Given the description of an element on the screen output the (x, y) to click on. 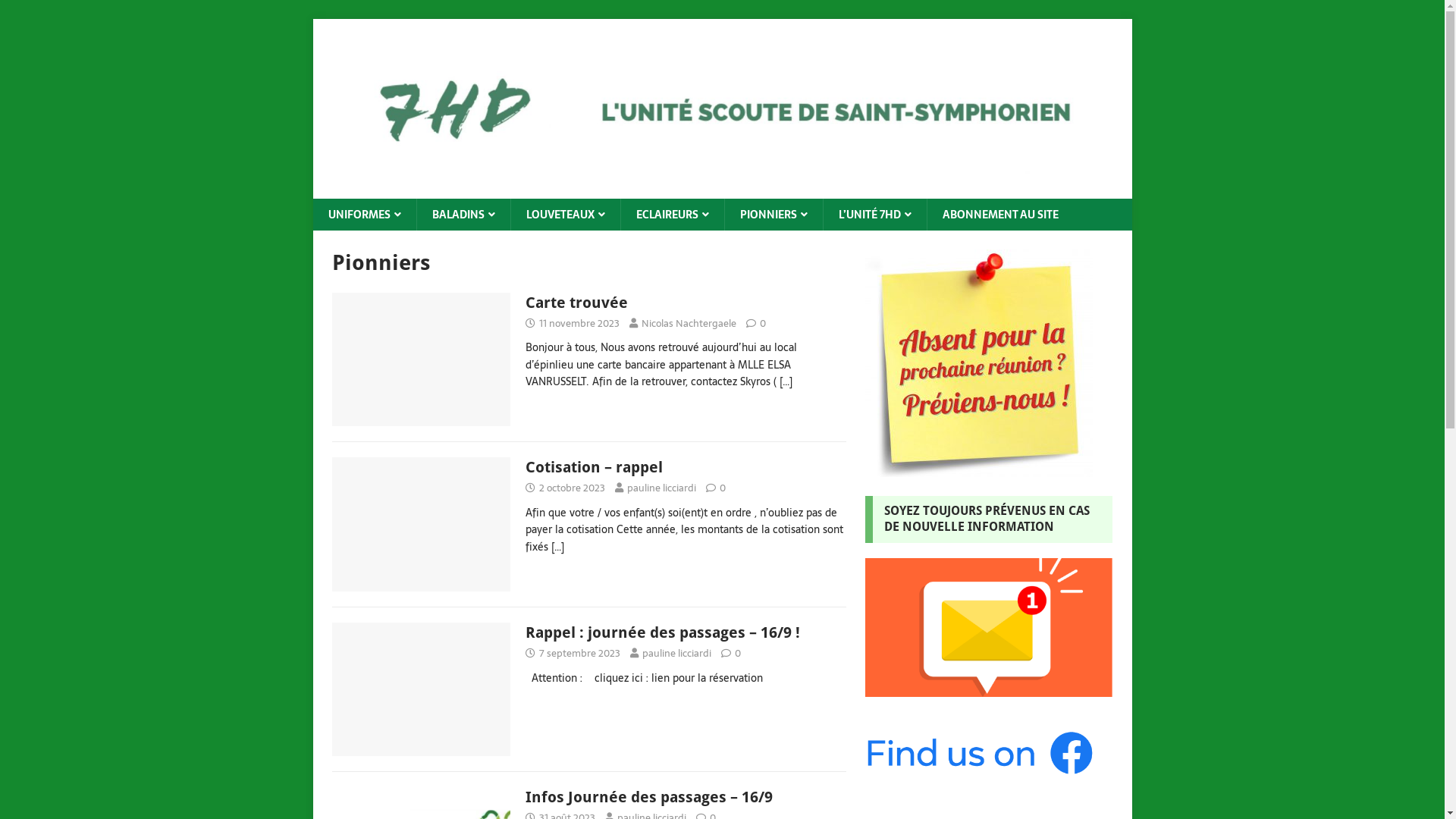
PIONNIERS Element type: text (772, 214)
UNIFORMES Element type: text (363, 214)
0 Element type: text (762, 323)
pauline licciardi Element type: text (660, 487)
7HD Element type: hover (721, 189)
pauline licciardi Element type: text (675, 653)
BALADINS Element type: text (462, 214)
ECLAIREURS Element type: text (672, 214)
LOUVETEAUX Element type: text (564, 214)
ABONNEMENT AU SITE Element type: text (999, 214)
Nicolas Nachtergaele Element type: text (688, 323)
0 Element type: text (737, 653)
0 Element type: text (721, 487)
